Given the description of an element on the screen output the (x, y) to click on. 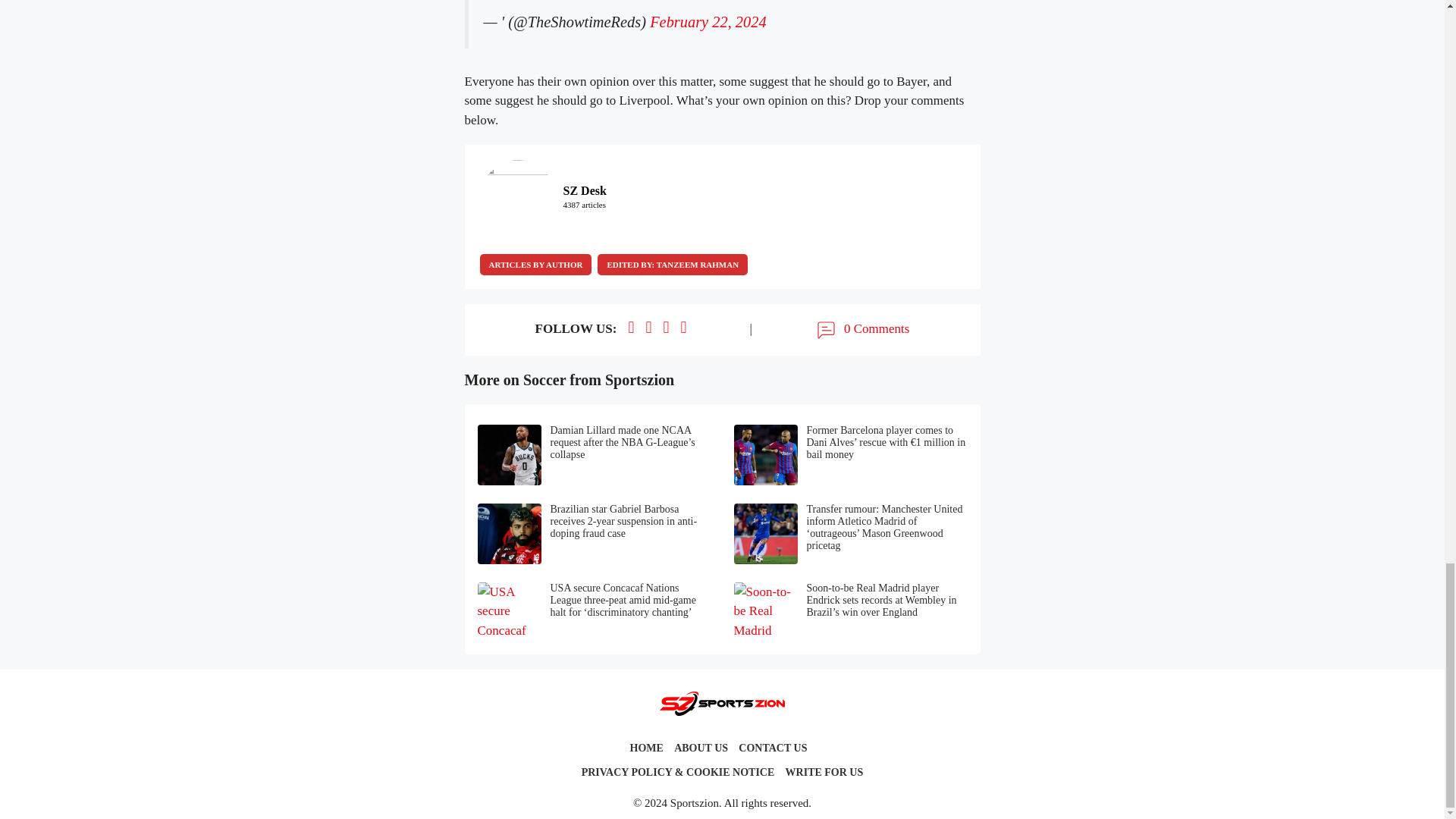
EDITED BY: TANZEEM RAHMAN (672, 264)
0 Comments (861, 329)
ARTICLES BY AUTHOR (535, 264)
February 22, 2024 (707, 21)
